Given the description of an element on the screen output the (x, y) to click on. 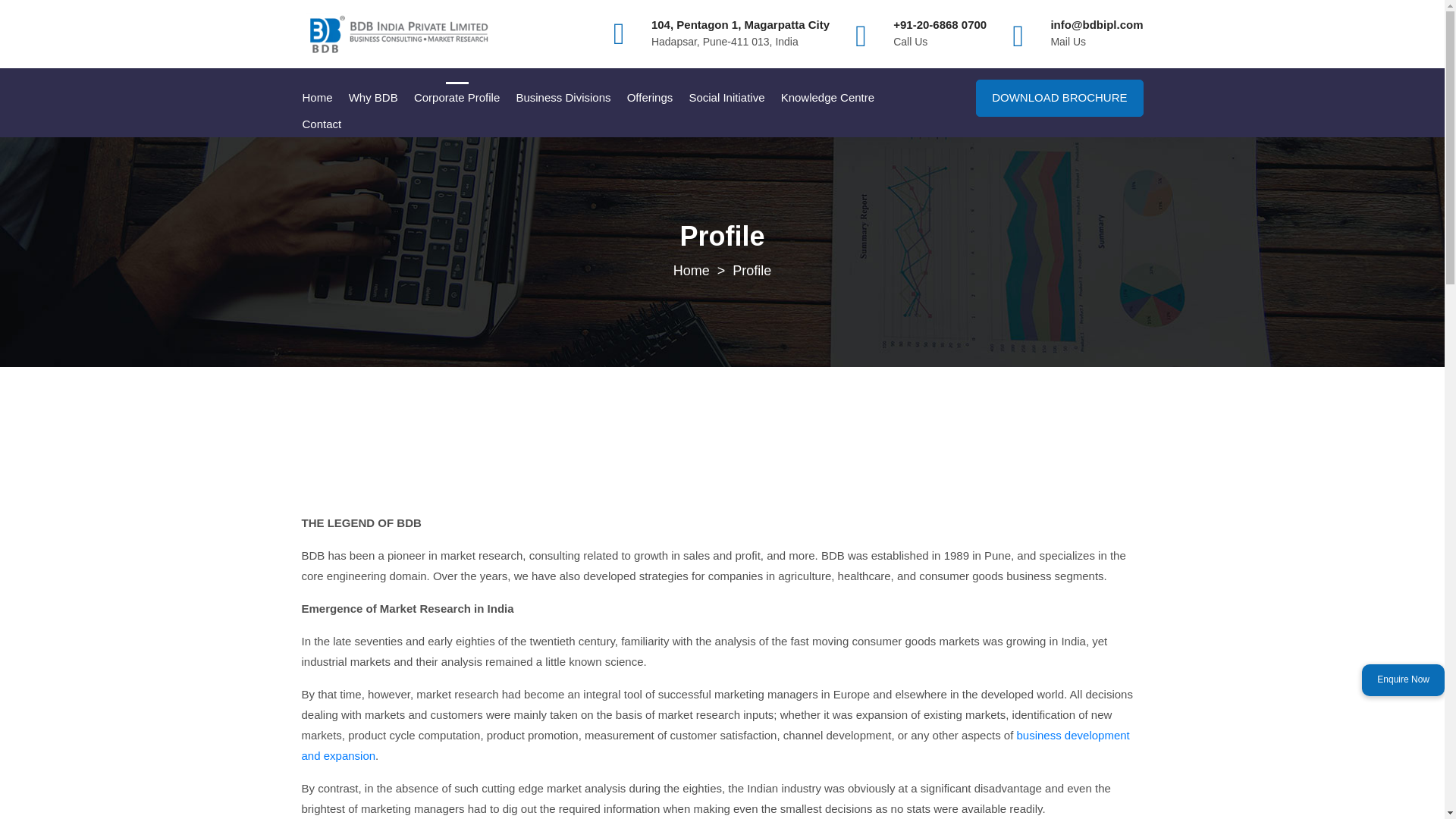
Go to BDB India Private Limited. (691, 270)
Offerings (650, 97)
Home (317, 97)
Social Initiative (726, 97)
Business Divisions (563, 97)
Corporate Profile (456, 97)
Why BDB (372, 97)
